Given the description of an element on the screen output the (x, y) to click on. 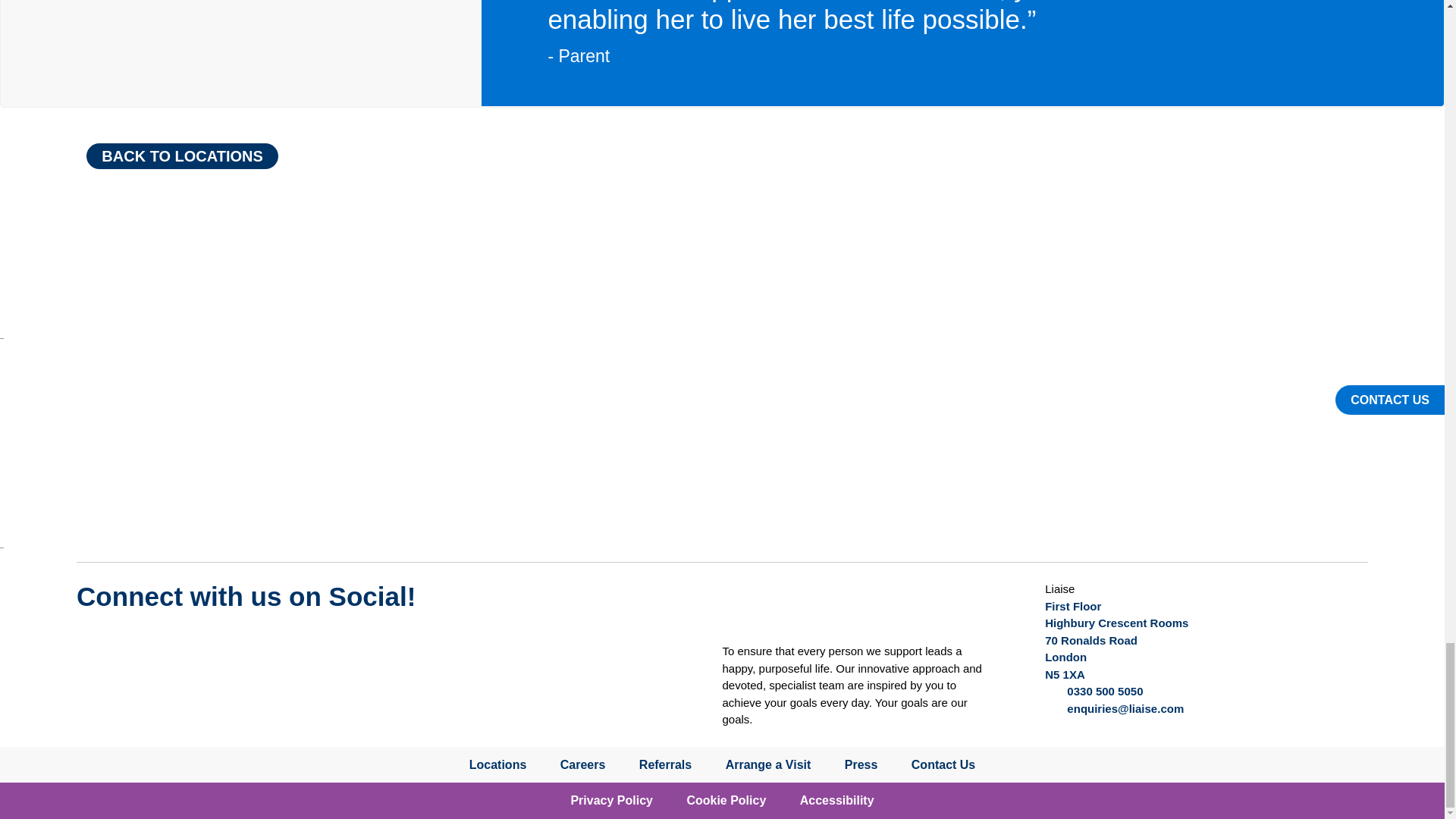
liaise-logo-v2 (769, 607)
twitter-icon (99, 642)
linkedin-icon (269, 642)
fb-icon (212, 642)
youtube-icon (156, 642)
